Given the description of an element on the screen output the (x, y) to click on. 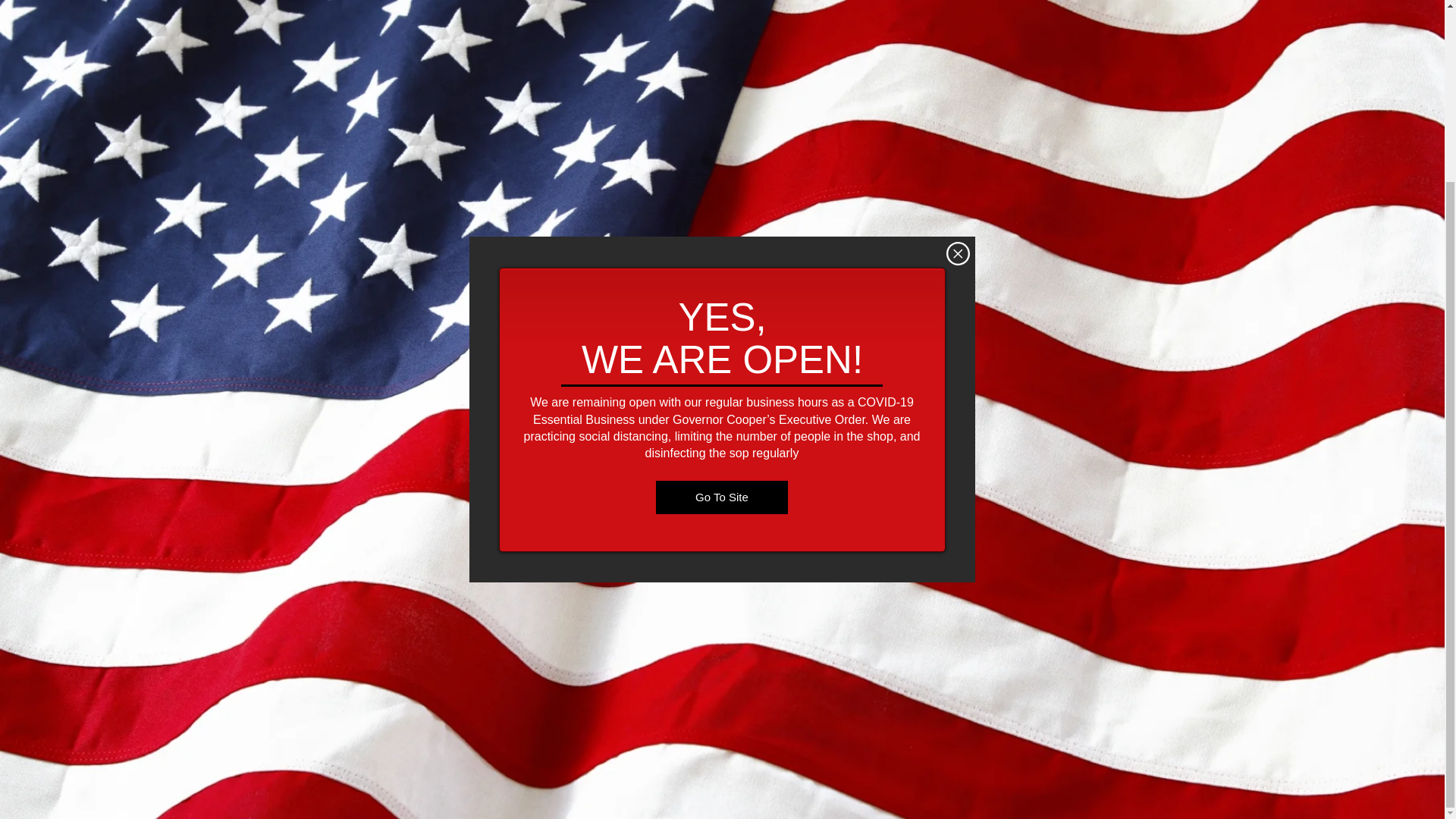
Back to site (957, 29)
Shop Here (537, 521)
Instagram Feed (921, 424)
